Given the description of an element on the screen output the (x, y) to click on. 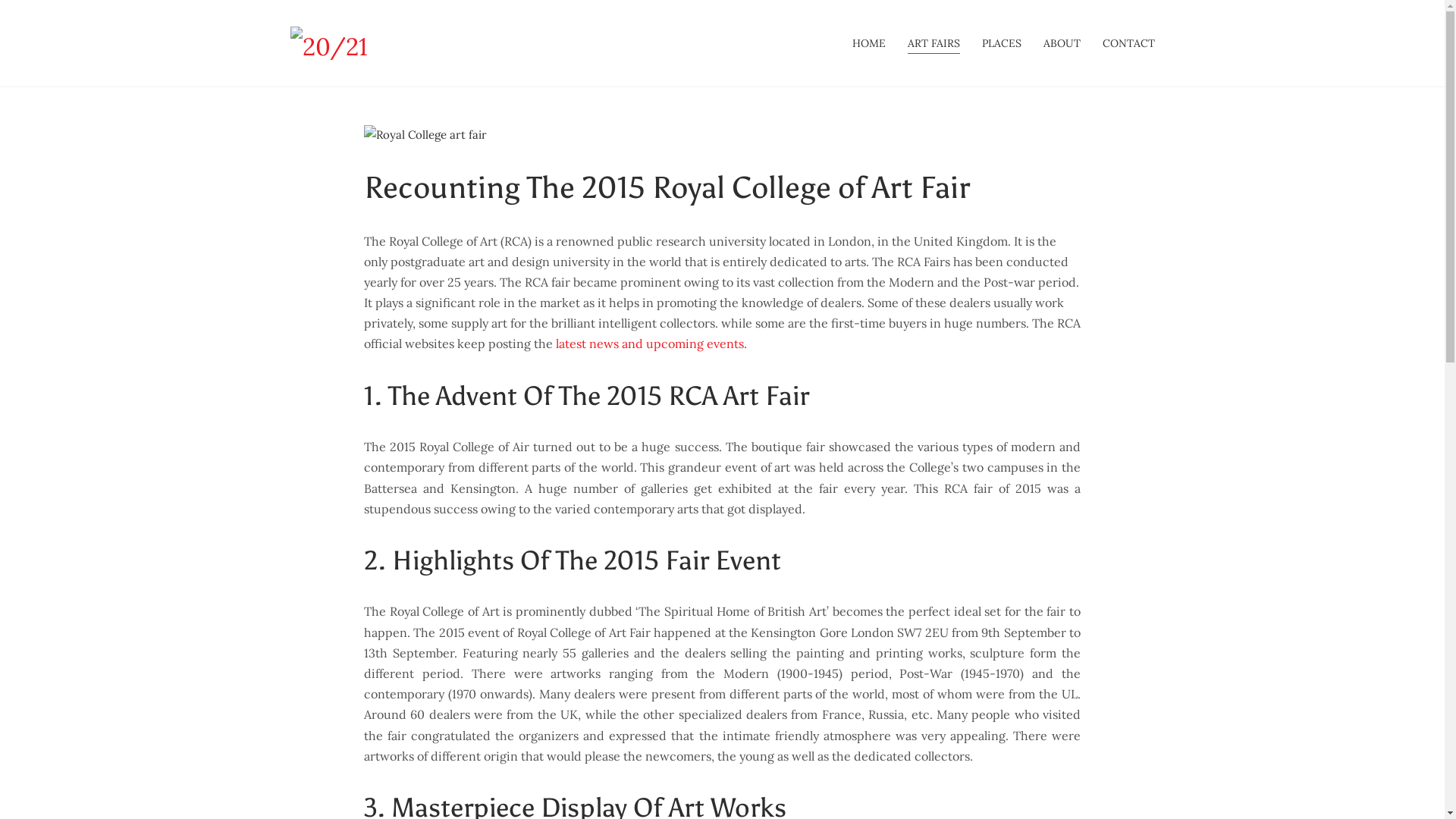
ART FAIRS Element type: text (932, 43)
PLACES Element type: text (1000, 43)
latest news and upcoming events Element type: text (649, 343)
Royal-College-of-Art-Fair Element type: hover (425, 134)
HOME Element type: text (868, 43)
CONTACT Element type: text (1128, 43)
ABOUT Element type: text (1061, 43)
